Given the description of an element on the screen output the (x, y) to click on. 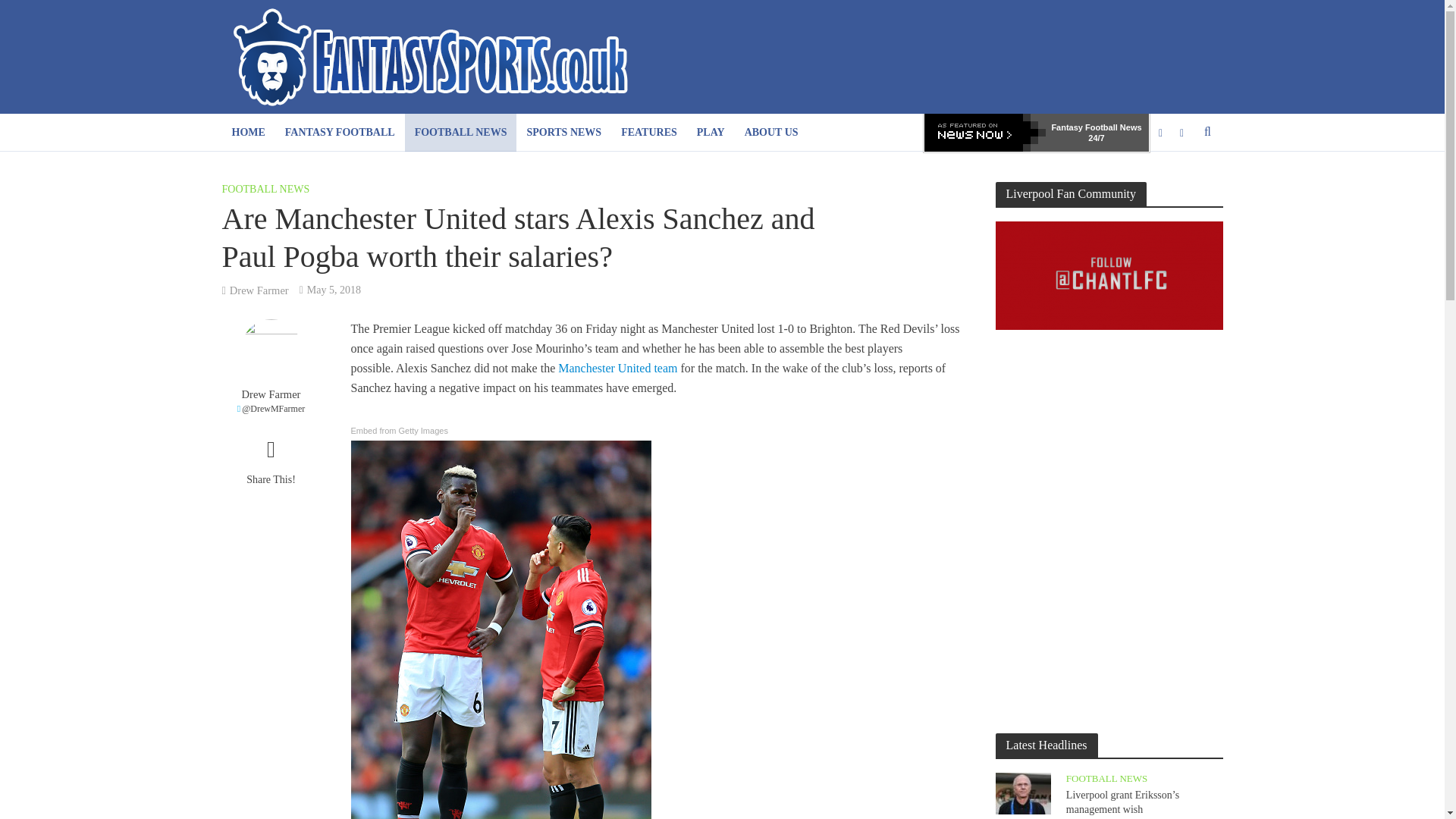
FANTASY FOOTBALL (339, 132)
HOME (248, 132)
SPORTS NEWS (563, 132)
PLAY (711, 132)
Drew Farmer (259, 291)
ABOUT US (771, 132)
FOOTBALL NEWS (460, 132)
Liverpool Fan Community (1108, 275)
Click here for more Fantasy Football news from NewsNow (984, 132)
Drew Farmer (270, 394)
FEATURES (649, 132)
Click here for more Fantasy Football news from NewsNow (1096, 132)
FOOTBALL NEWS (264, 190)
